Given the description of an element on the screen output the (x, y) to click on. 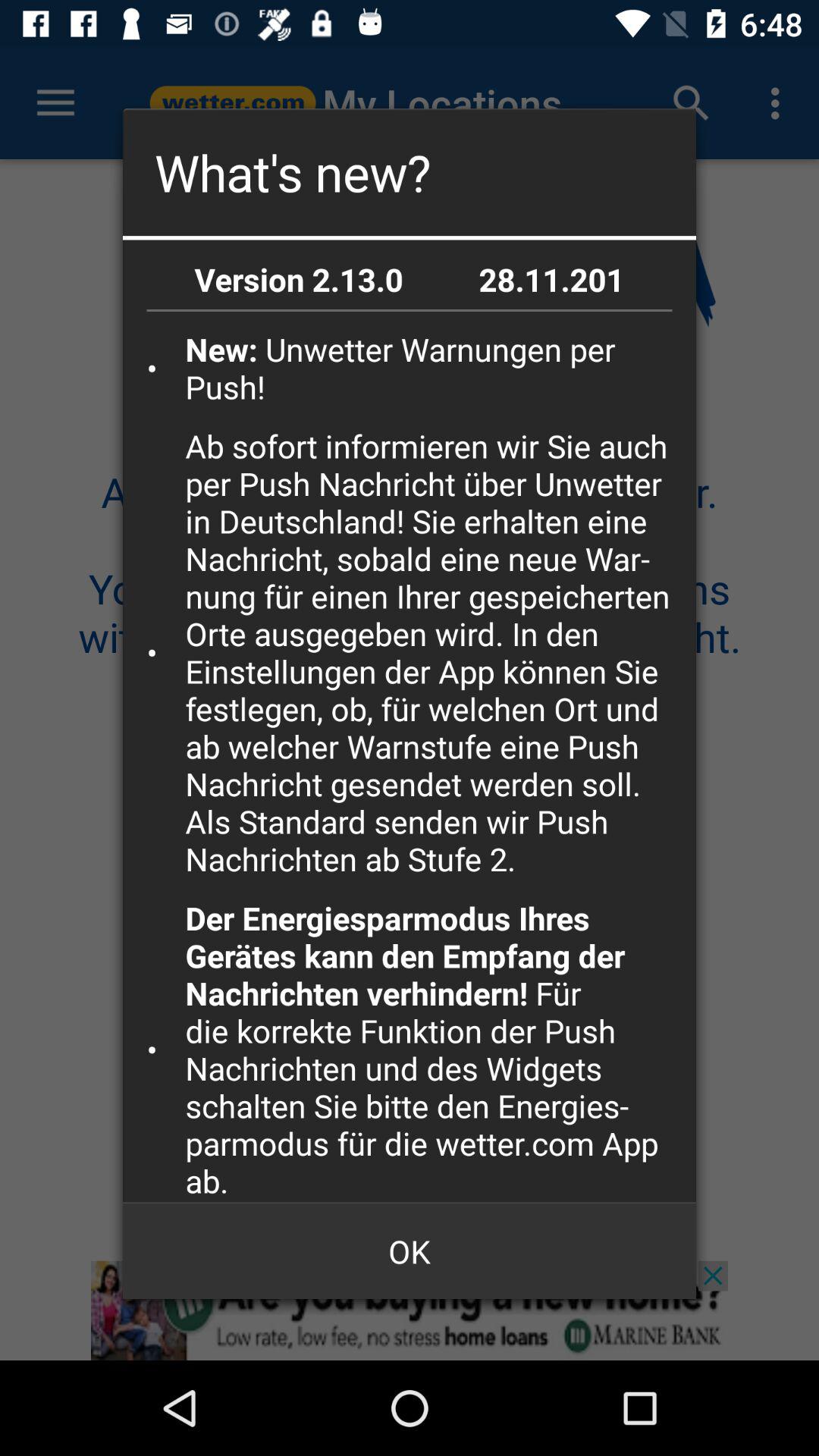
flip until ok (409, 1251)
